Given the description of an element on the screen output the (x, y) to click on. 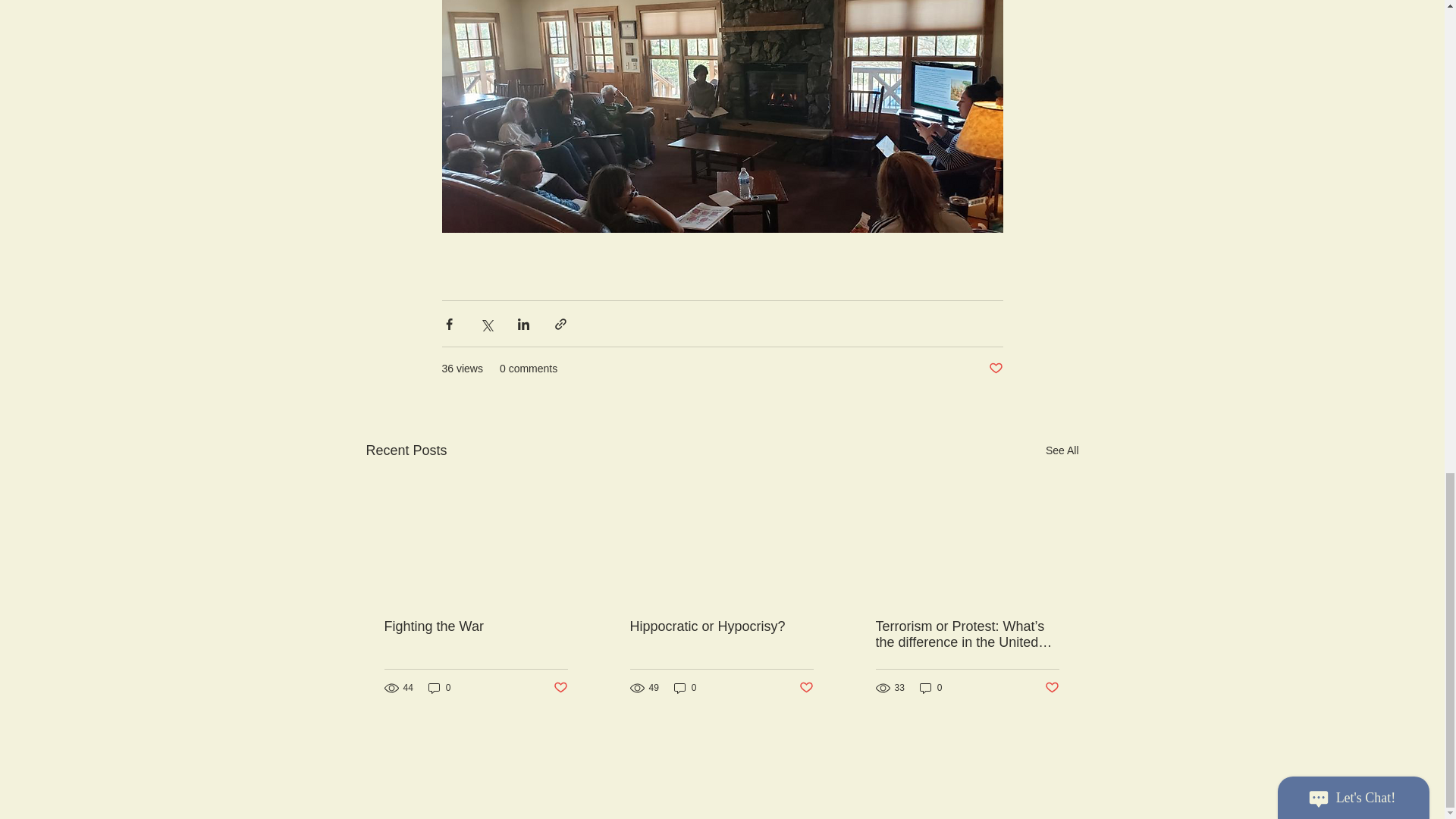
See All (1061, 450)
0 (685, 687)
Hippocratic or Hypocrisy? (720, 626)
Fighting the War (475, 626)
Post not marked as liked (806, 688)
Post not marked as liked (1052, 688)
Post not marked as liked (995, 368)
0 (439, 687)
0 (930, 687)
Post not marked as liked (560, 688)
